Given the description of an element on the screen output the (x, y) to click on. 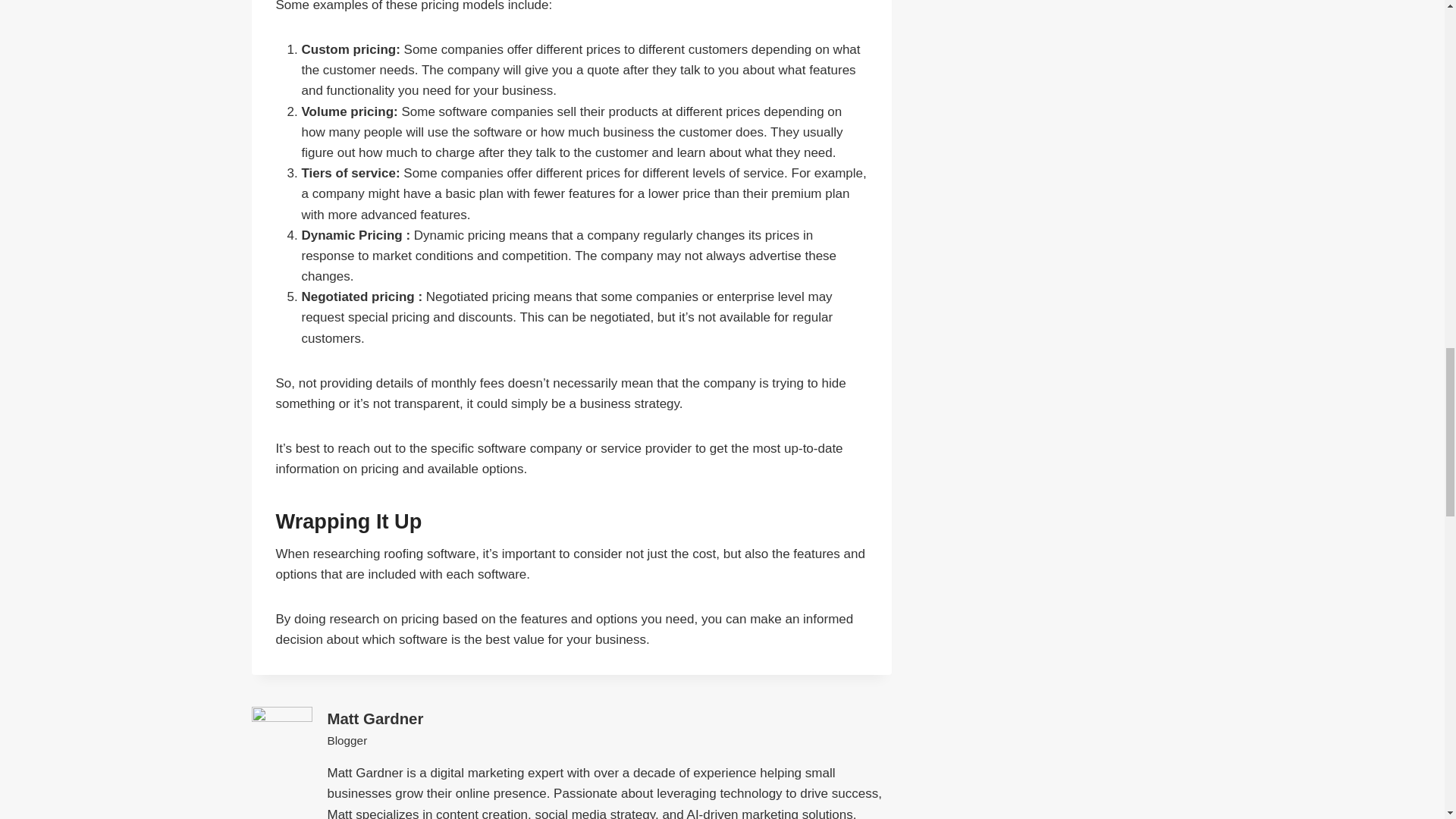
Posts by Matt Gardner (375, 718)
Matt Gardner (375, 718)
